Given the description of an element on the screen output the (x, y) to click on. 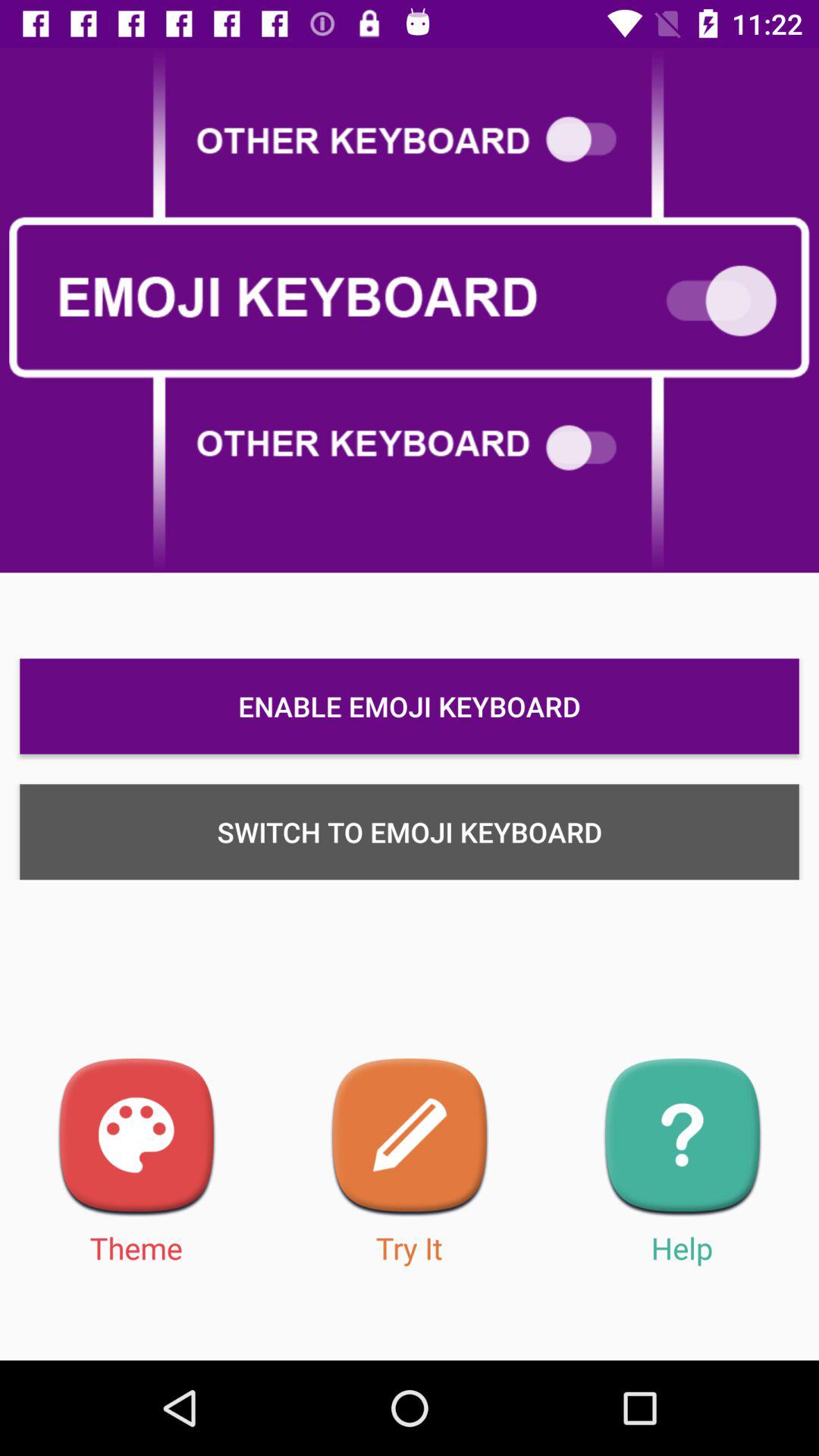
help (682, 1137)
